Given the description of an element on the screen output the (x, y) to click on. 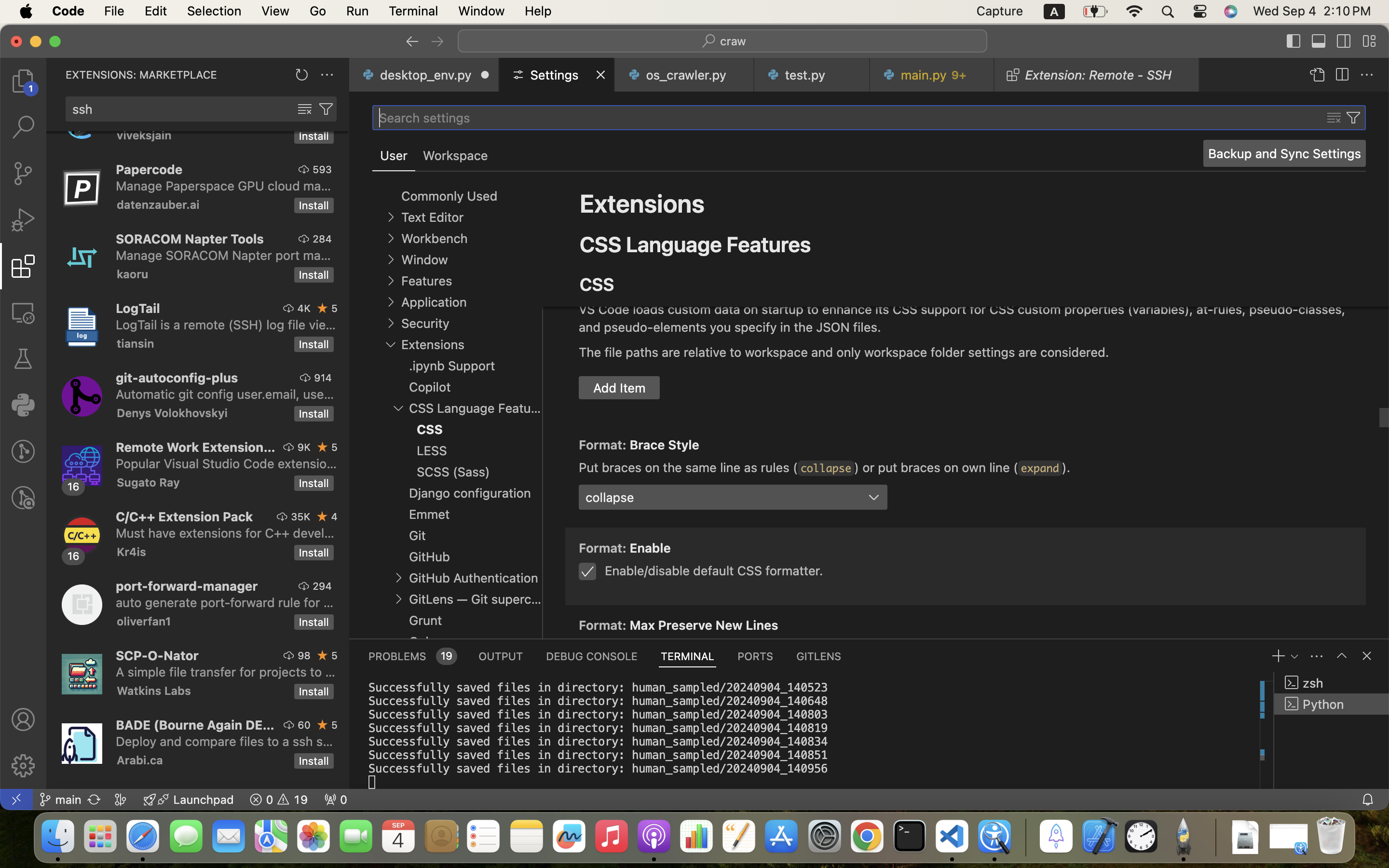
tiansin Element type: AXStaticText (135, 343)
98 Element type: AXStaticText (304, 655)
 Element type: AXCheckBox (1318, 41)
Search settings Element type: AXStaticText (424, 117)
 Element type: AXButton (1341, 74)
